Given the description of an element on the screen output the (x, y) to click on. 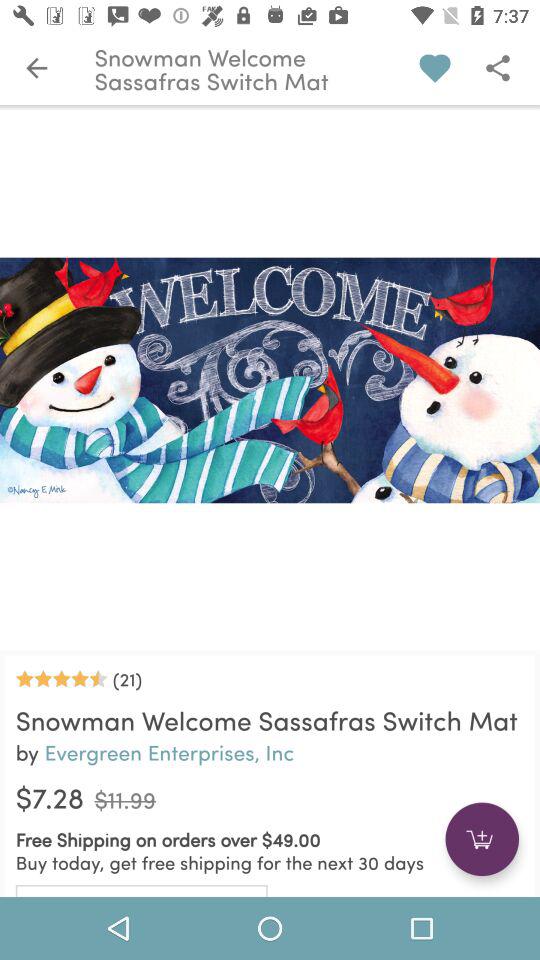
click on the love symbol (435, 67)
select the save icon on top right hand side (498, 67)
select the text below snowman welcome sassafras switch mat (269, 751)
